Given the description of an element on the screen output the (x, y) to click on. 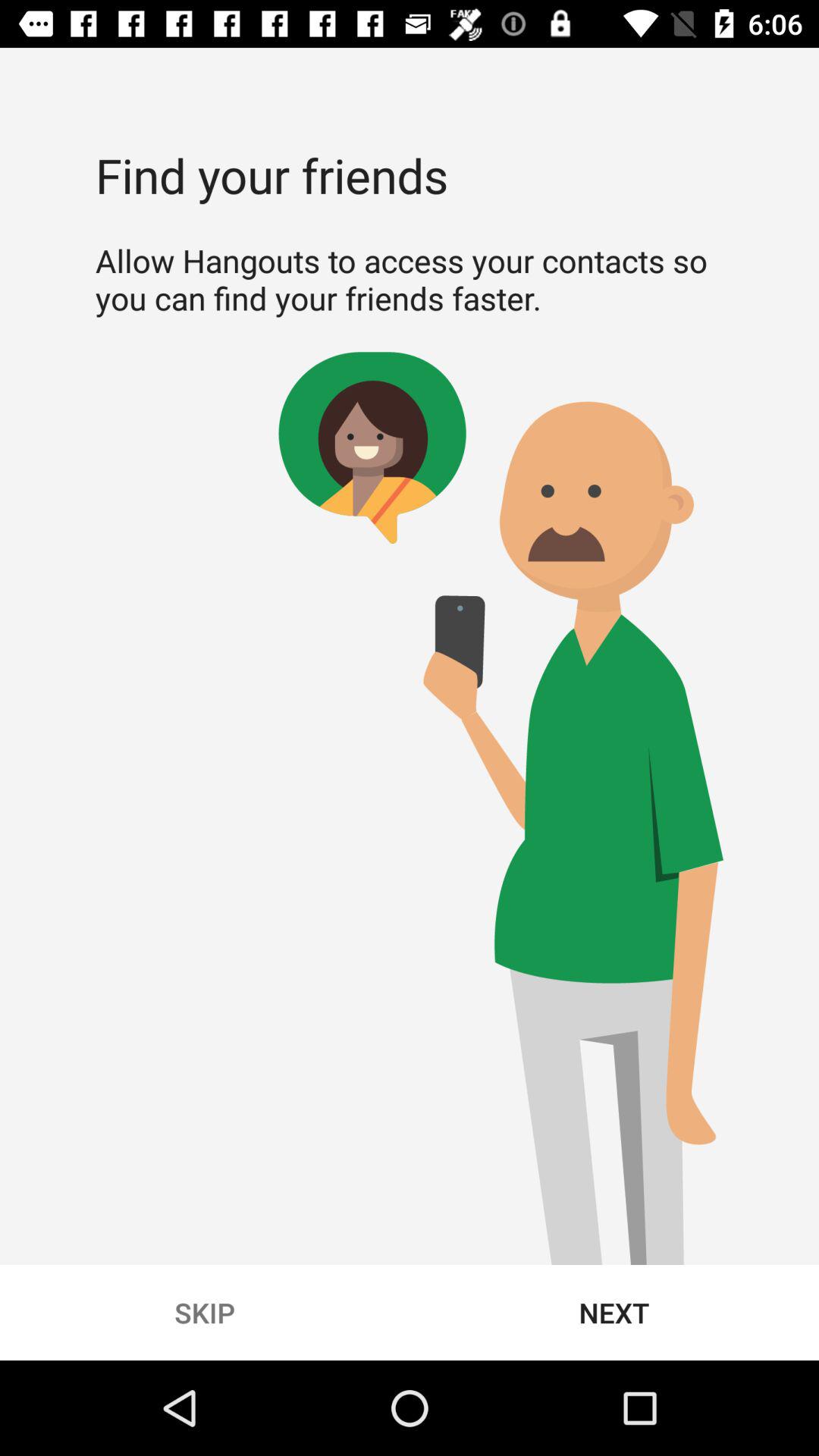
open the next at the bottom right corner (614, 1312)
